Given the description of an element on the screen output the (x, y) to click on. 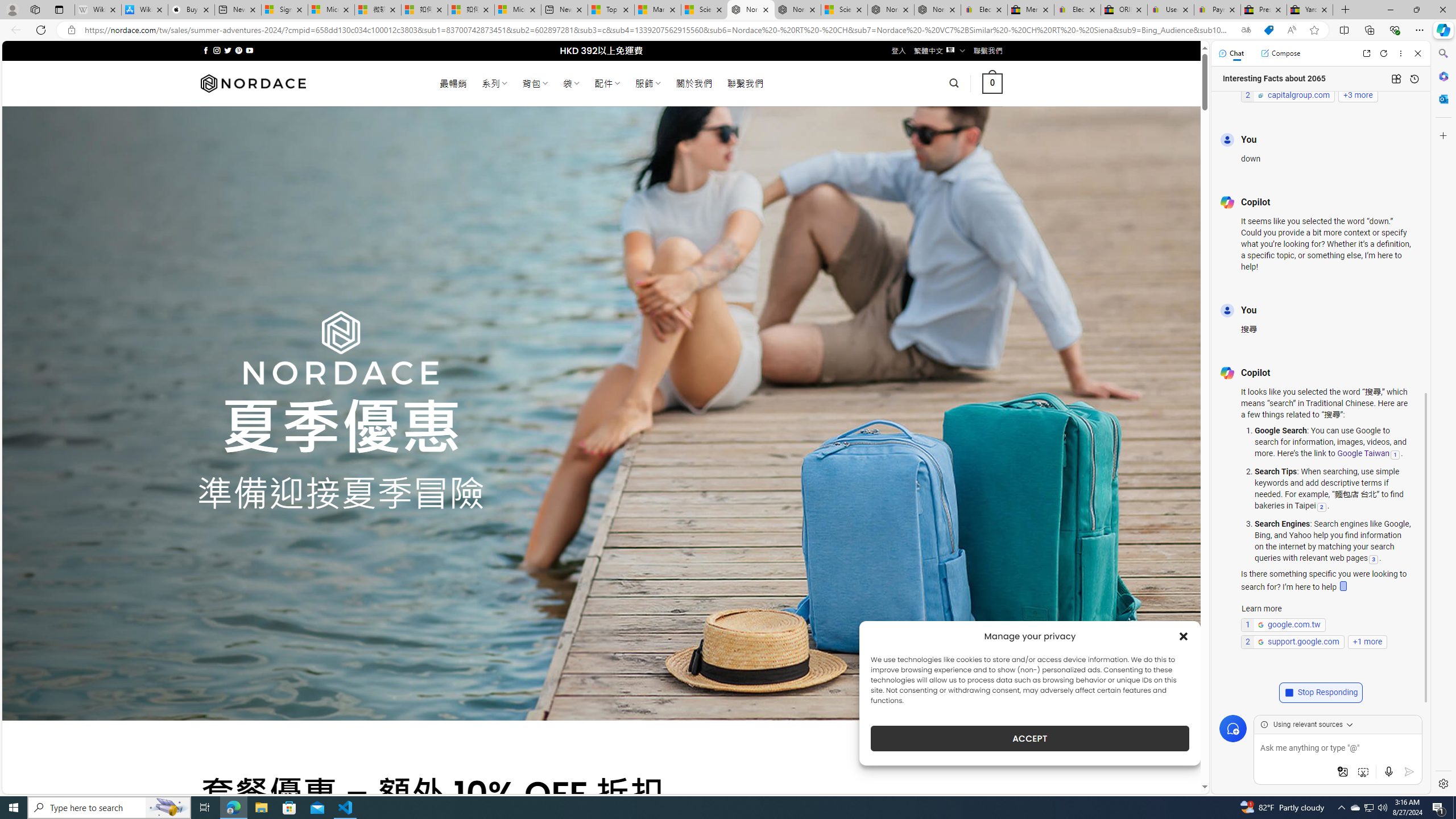
Nordace - Summer Adventures 2024 (890, 9)
Compose (1280, 52)
Open link in new tab (1366, 53)
Follow on Instagram (216, 50)
